Given the description of an element on the screen output the (x, y) to click on. 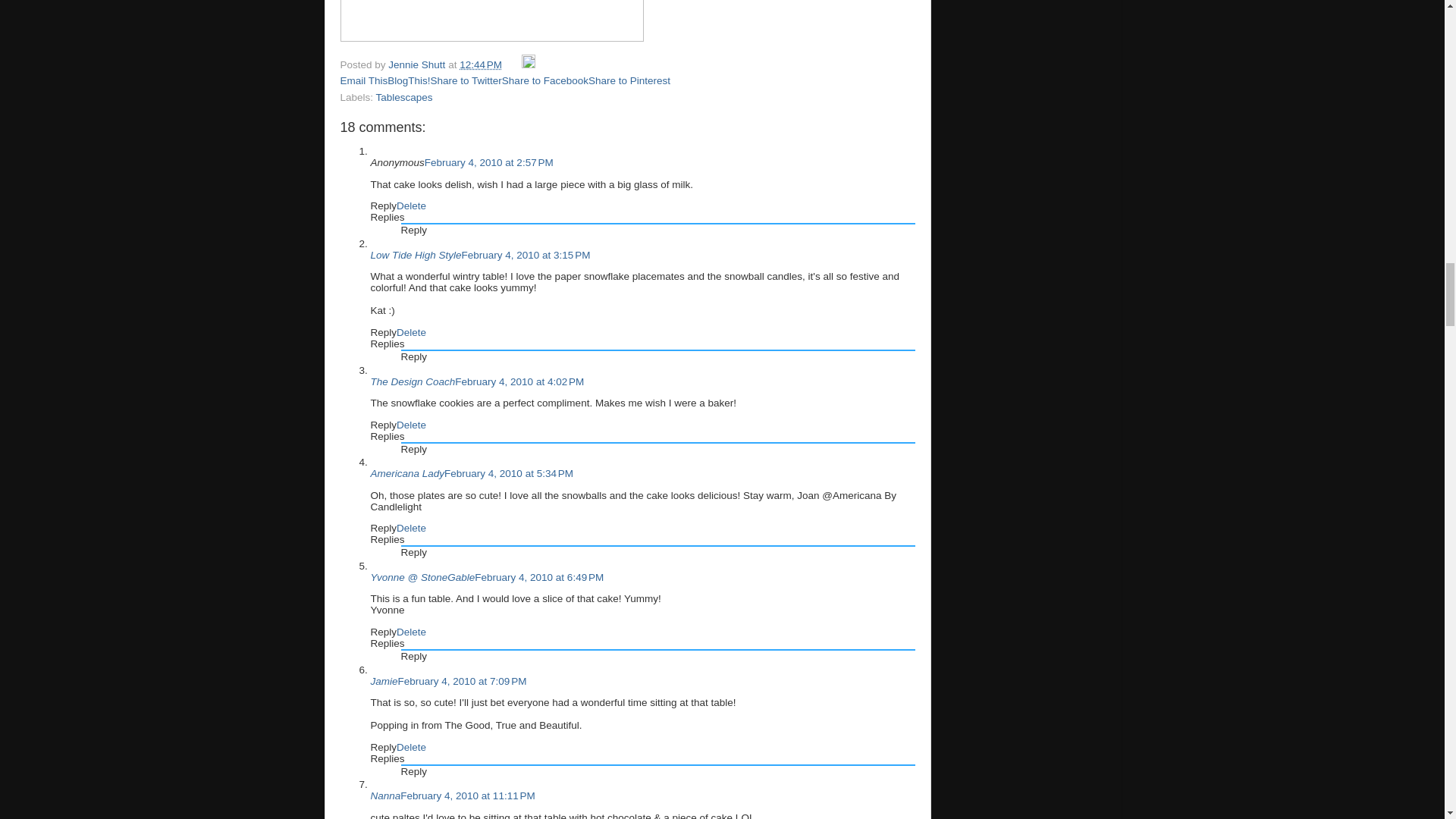
Reply (382, 205)
BlogThis! (408, 80)
Edit Post (528, 64)
permanent link (481, 64)
Tablescapes (403, 97)
Delete (411, 332)
Delete (411, 205)
Share to Twitter (466, 80)
Reply (413, 229)
Share to Twitter (466, 80)
Reply (382, 332)
Low Tide High Style (415, 255)
Email Post (513, 64)
Email This (363, 80)
Share to Pinterest (628, 80)
